Given the description of an element on the screen output the (x, y) to click on. 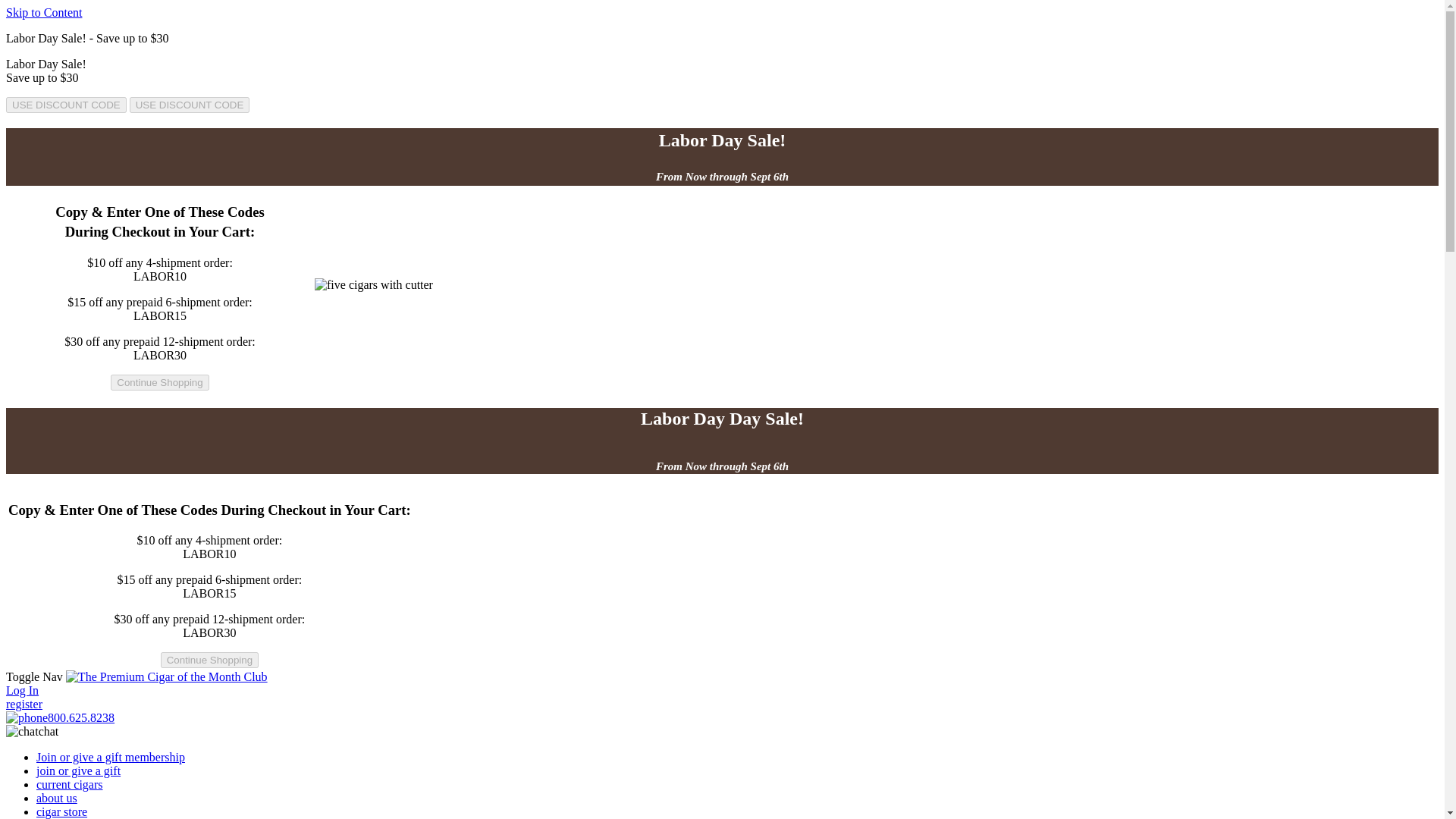
join or give a gift (78, 770)
USE DISCOUNT CODE (189, 105)
register (23, 703)
chat (31, 730)
Skip to Content (43, 11)
Continue Shopping (209, 659)
The Premium Cigar of the Month Club (166, 676)
800.625.8238 (60, 717)
about us (56, 797)
Join or give a gift membership (110, 757)
